Given the description of an element on the screen output the (x, y) to click on. 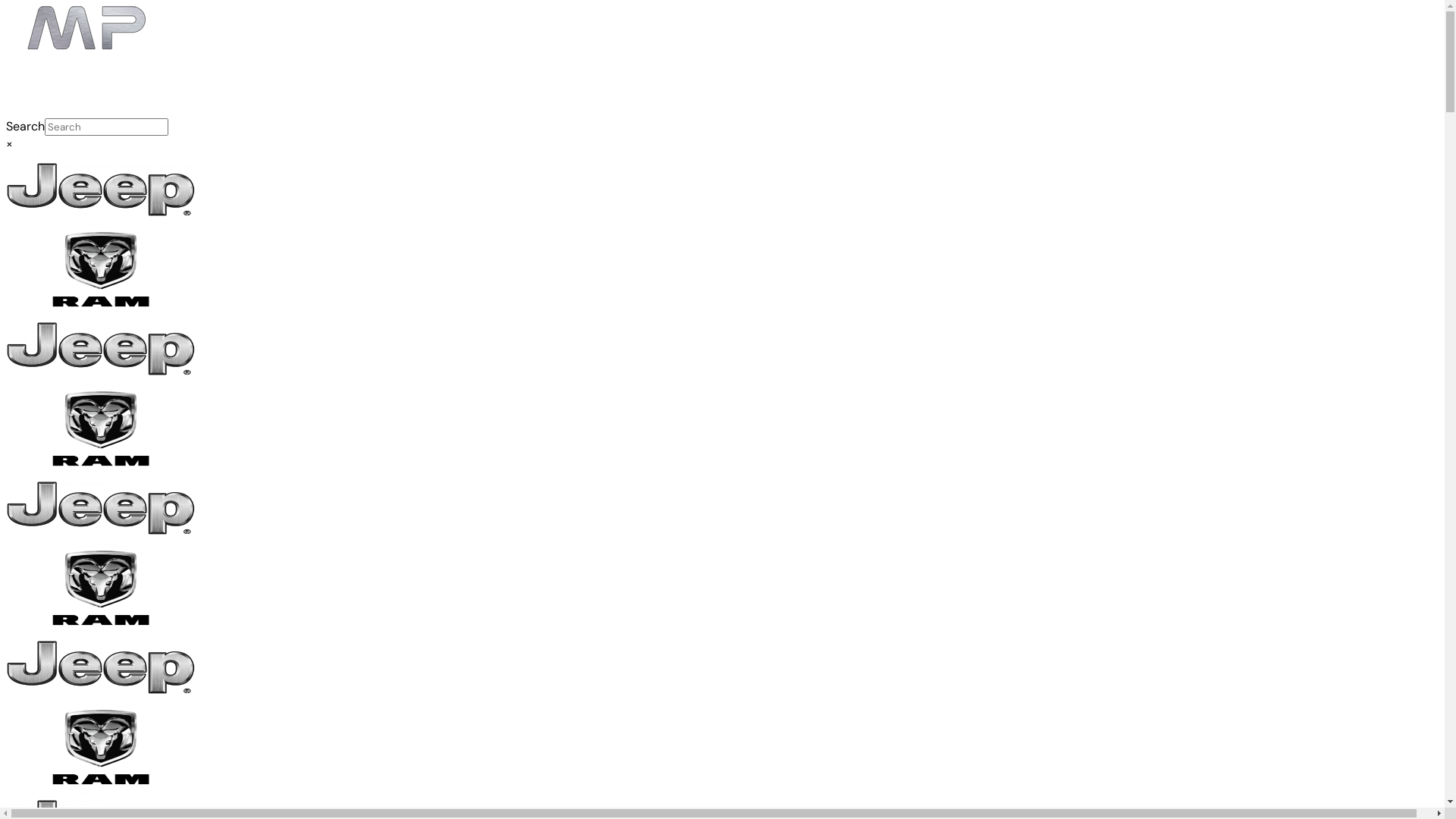
Skip to the content Element type: text (5, 5)
